Given the description of an element on the screen output the (x, y) to click on. 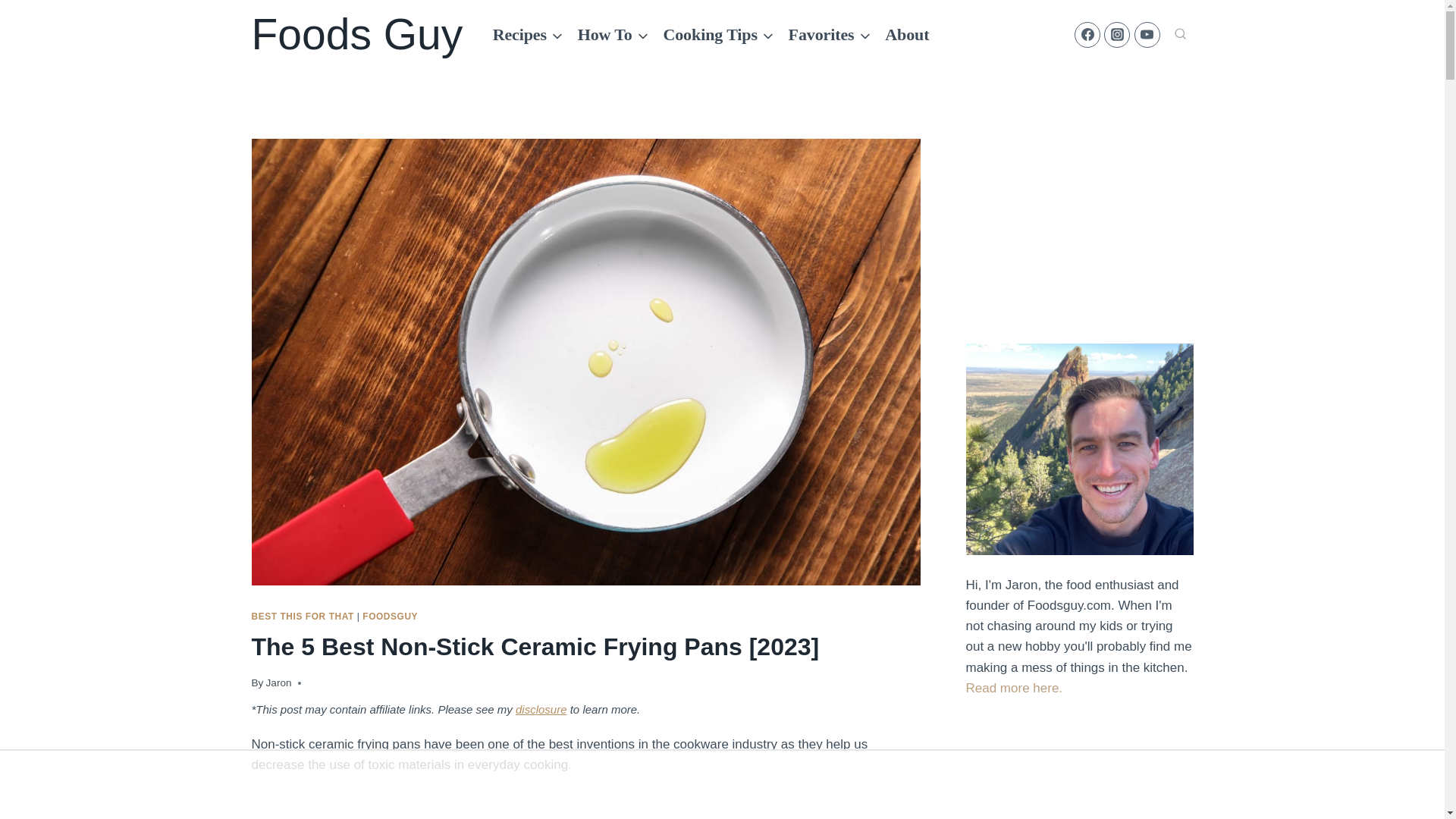
Cooking Tips (718, 34)
BEST THIS FOR THAT (302, 615)
How To (613, 34)
Recipes (527, 34)
Foods Guy (357, 34)
About (906, 34)
Favorites (828, 34)
FOODSGUY (389, 615)
